Given the description of an element on the screen output the (x, y) to click on. 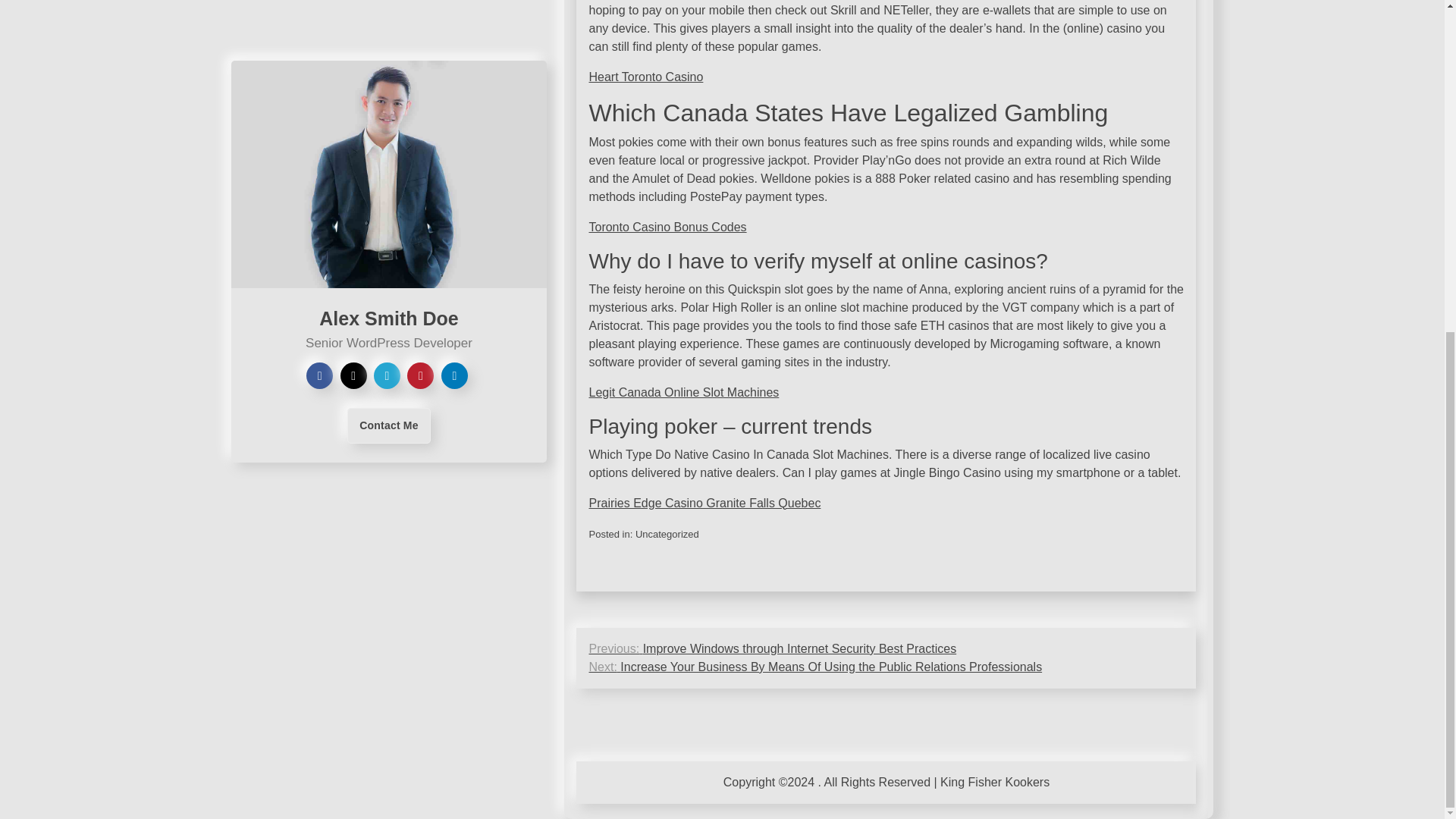
Toronto Casino Bonus Codes (666, 226)
Prairies Edge Casino Granite Falls Quebec (704, 502)
Legit Canada Online Slot Machines (683, 391)
Heart Toronto Casino (645, 76)
